Given the description of an element on the screen output the (x, y) to click on. 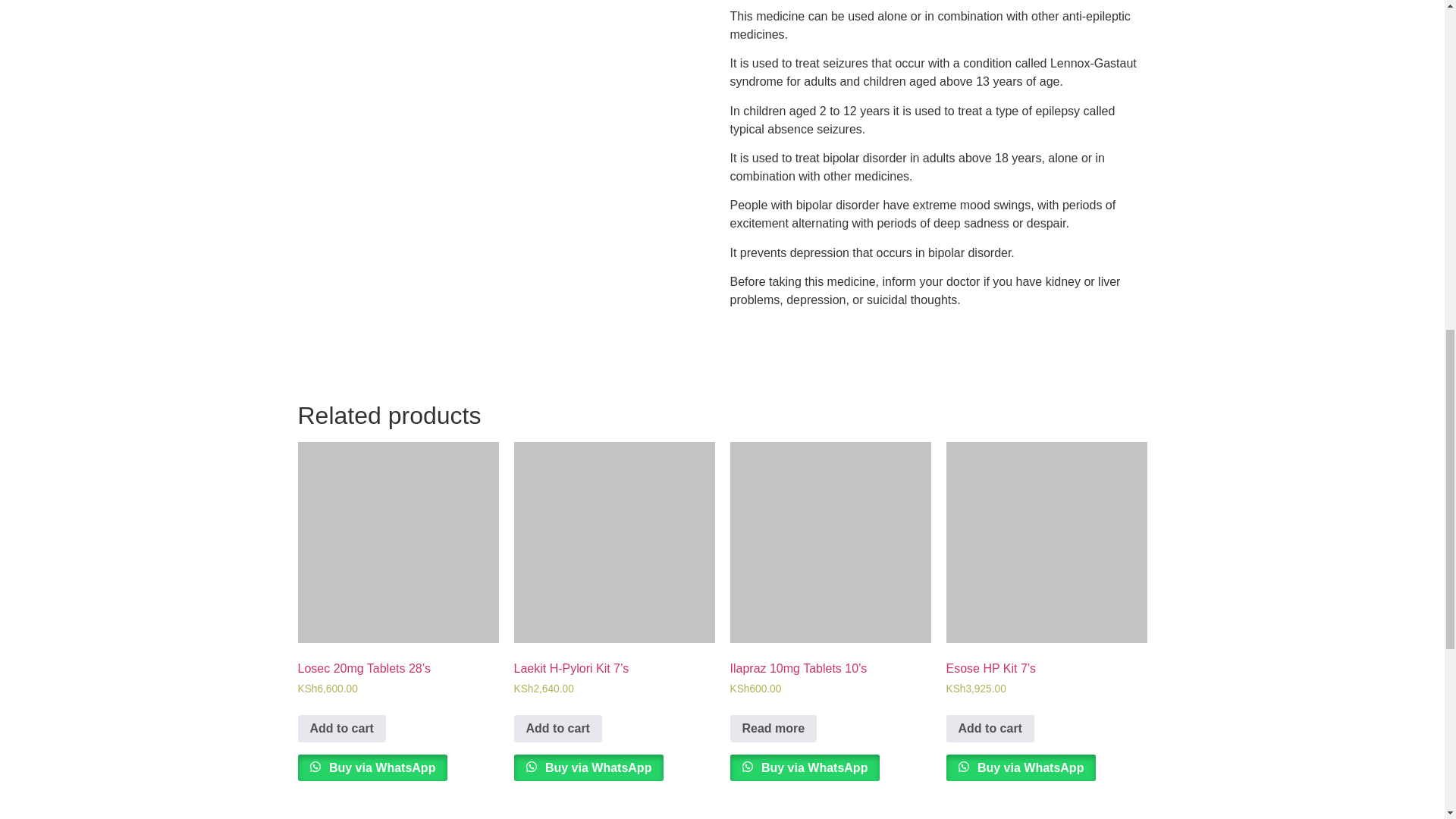
Complete order on WhatsApp to buy Ilapraz 10mg Tablets 10's (804, 768)
Complete order on WhatsApp to buy Losec 20mg Tablets 28's (371, 768)
Complete order on WhatsApp to buy Laekit H-Pylori Kit 7's (588, 768)
Complete order on WhatsApp to buy Esose HP Kit 7's (1021, 768)
